Given the description of an element on the screen output the (x, y) to click on. 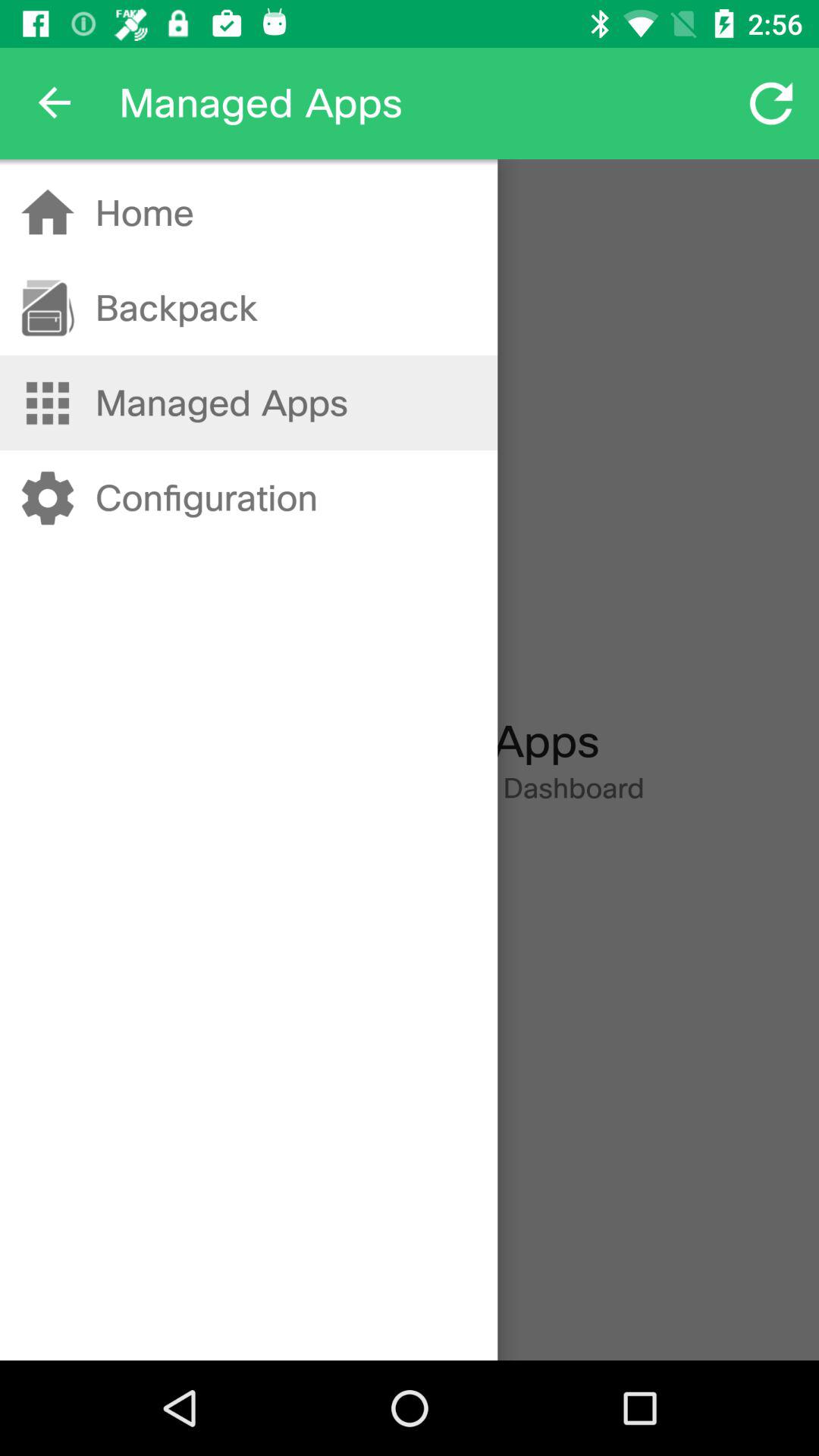
select the icon above the backpack (144, 212)
